Given the description of an element on the screen output the (x, y) to click on. 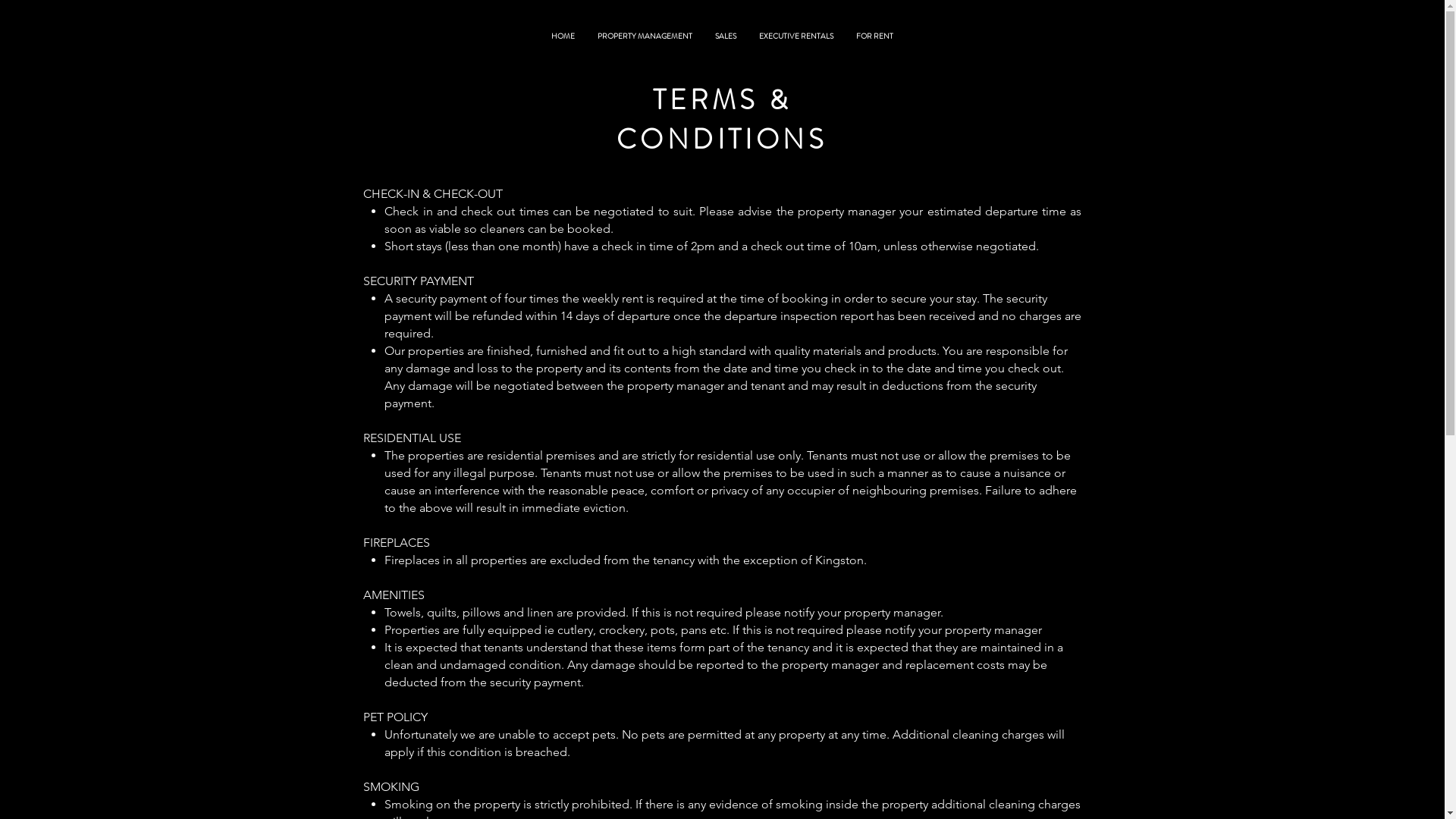
FOR RENT Element type: text (874, 36)
PROPERTY MANAGEMENT Element type: text (643, 36)
EXECUTIVE RENTALS Element type: text (795, 36)
HOME Element type: text (562, 36)
SALES Element type: text (725, 36)
